Given the description of an element on the screen output the (x, y) to click on. 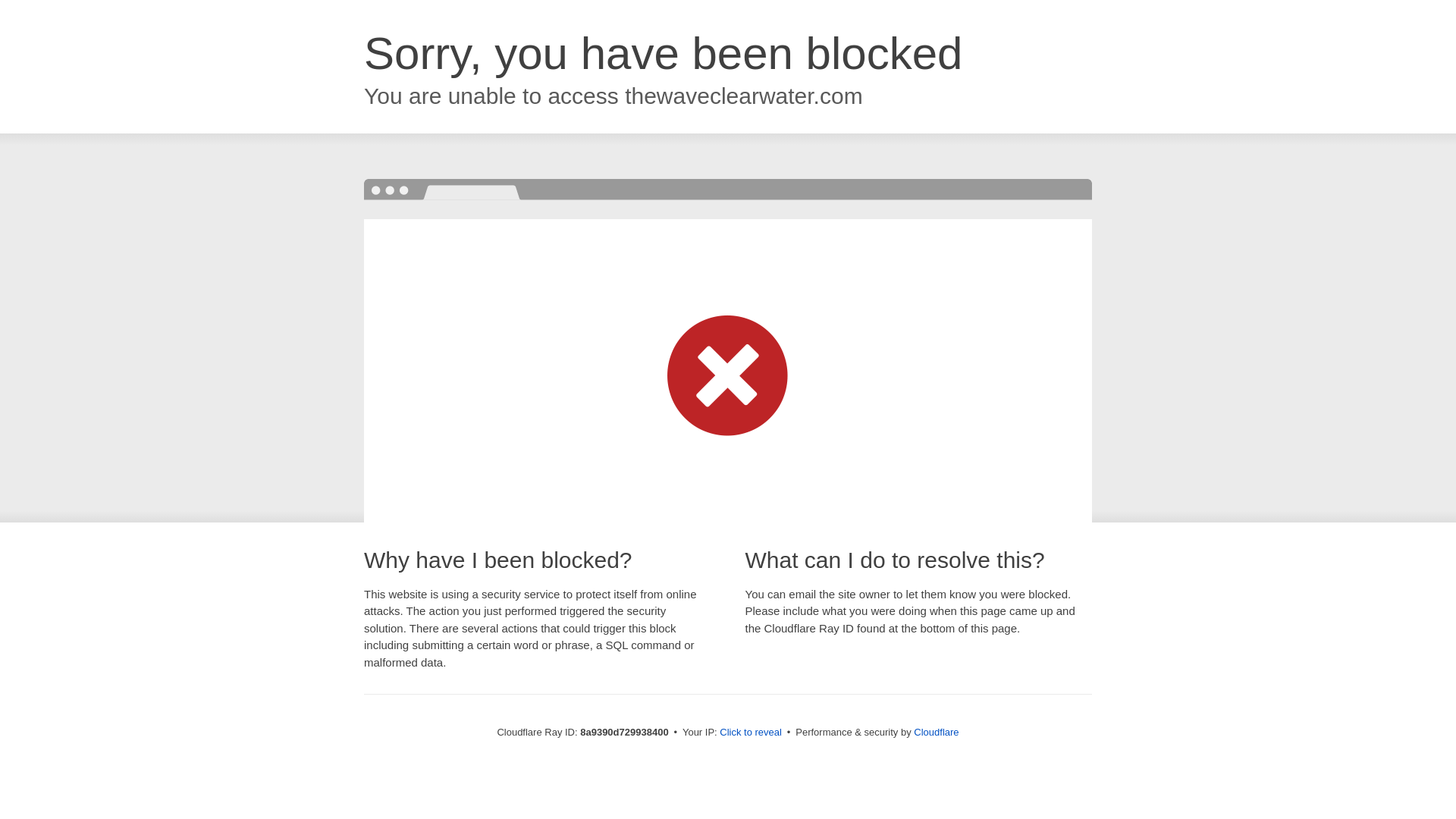
Cloudflare (936, 731)
Click to reveal (750, 732)
